Given the description of an element on the screen output the (x, y) to click on. 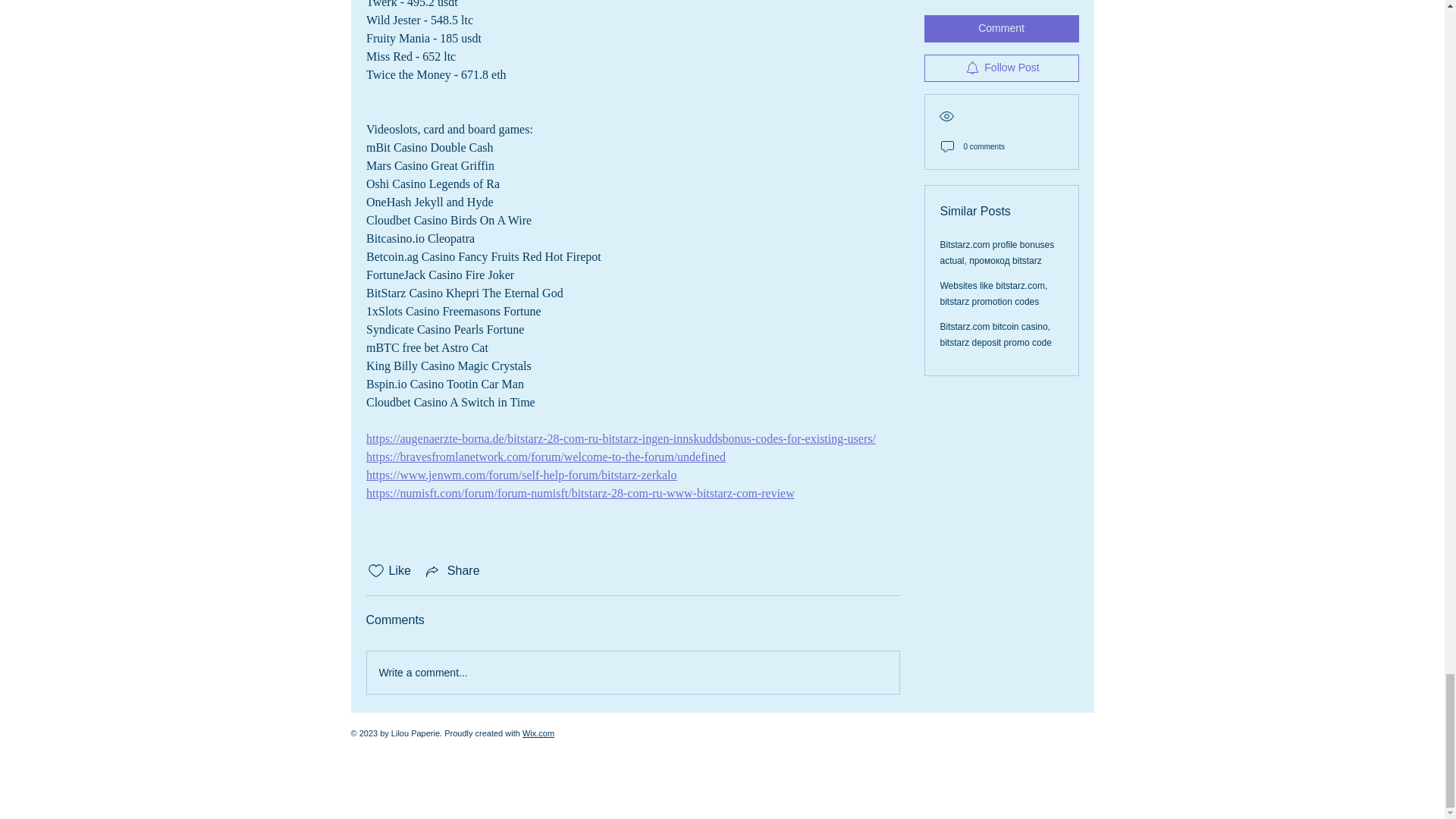
Wix.com (538, 732)
Write a comment... (632, 672)
Share (451, 570)
